Given the description of an element on the screen output the (x, y) to click on. 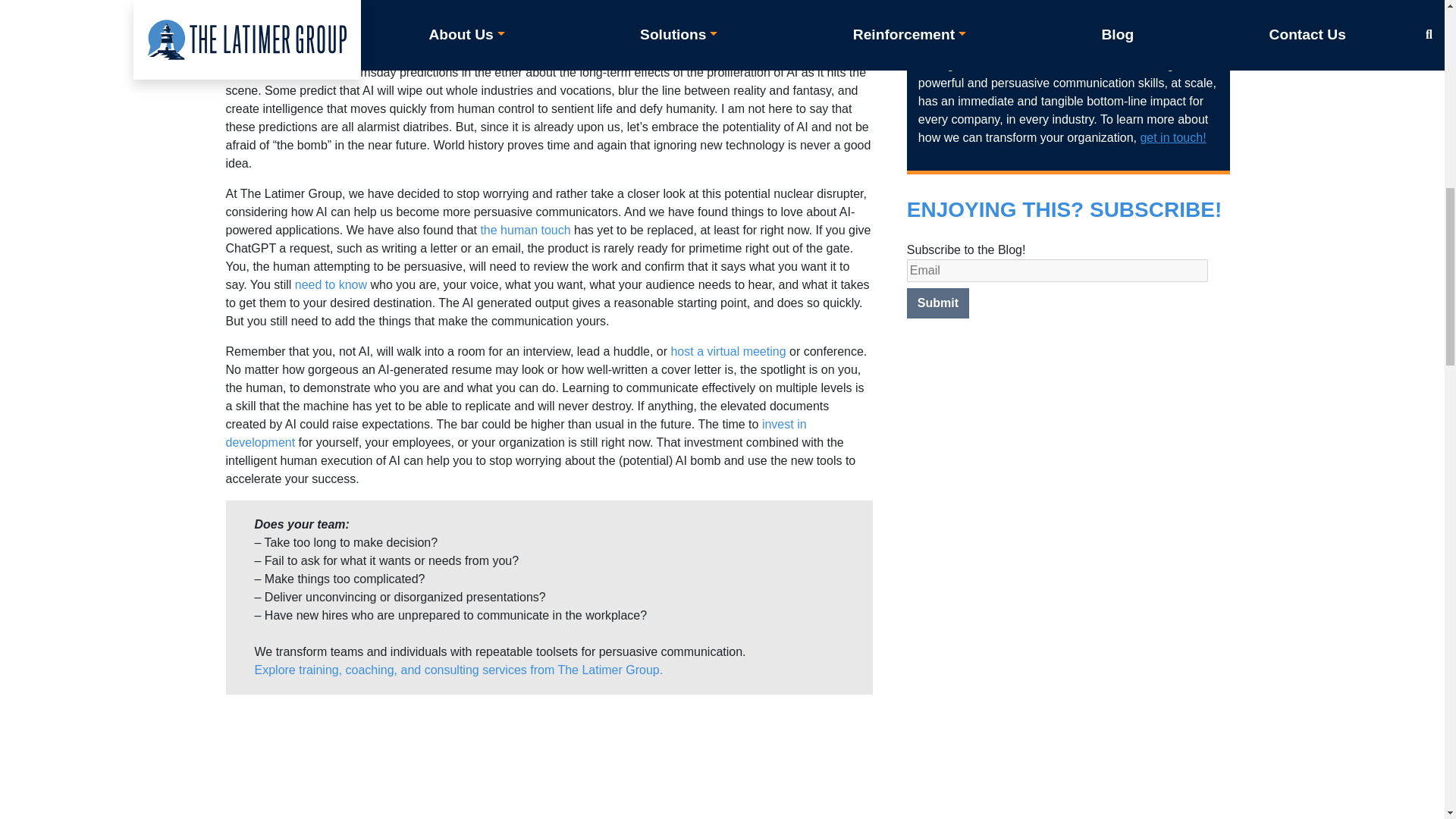
need to know (330, 284)
Elevating Business Communication Skills, at Scale (548, 762)
Submit (938, 303)
invest in development (515, 432)
host a virtual meeting (727, 350)
the human touch (525, 229)
